Given the description of an element on the screen output the (x, y) to click on. 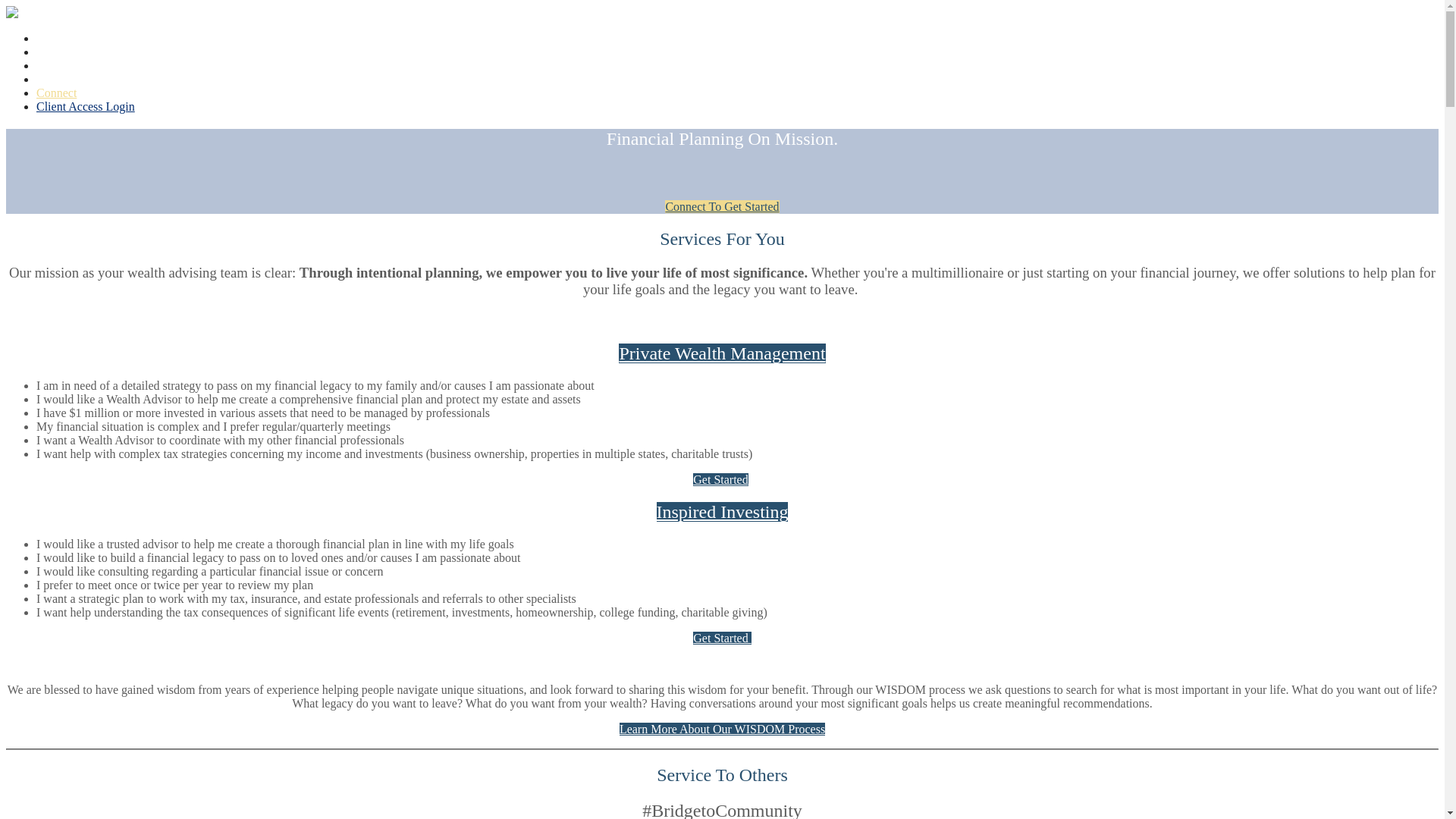
Learn More About Our WISDOM Process (722, 728)
Get Started (720, 479)
Get Started  (722, 637)
Connect To Get Started (721, 205)
Inspired Investing (722, 511)
Service (54, 38)
Client Access Login (85, 106)
Private Wealth Management (721, 353)
Insights (55, 78)
Connect (56, 92)
About Us (59, 51)
